Given the description of an element on the screen output the (x, y) to click on. 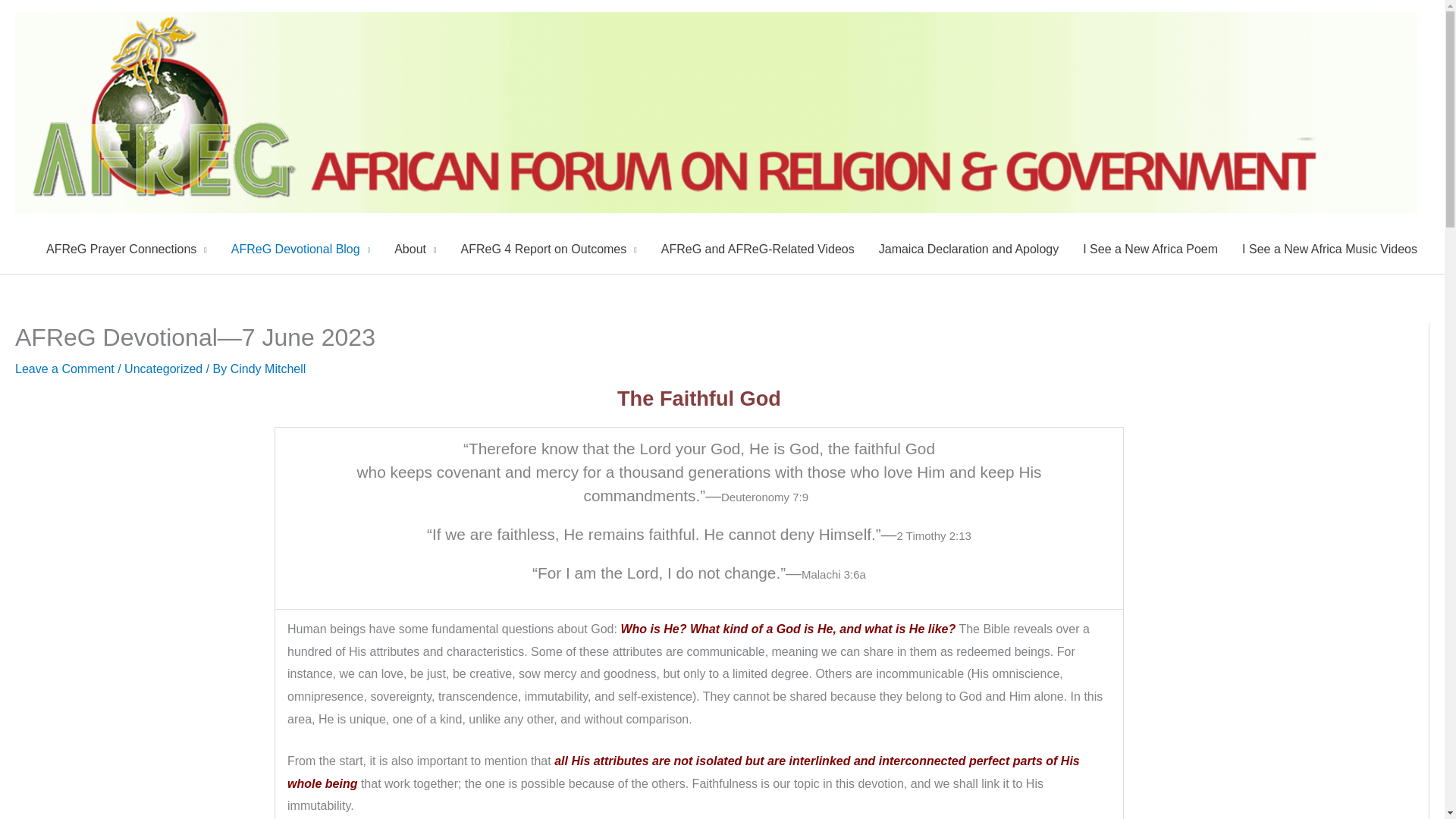
AFReG Prayer Connections (126, 249)
AFReG Devotional Blog (300, 249)
View all posts by Cindy Mitchell (267, 368)
